Given the description of an element on the screen output the (x, y) to click on. 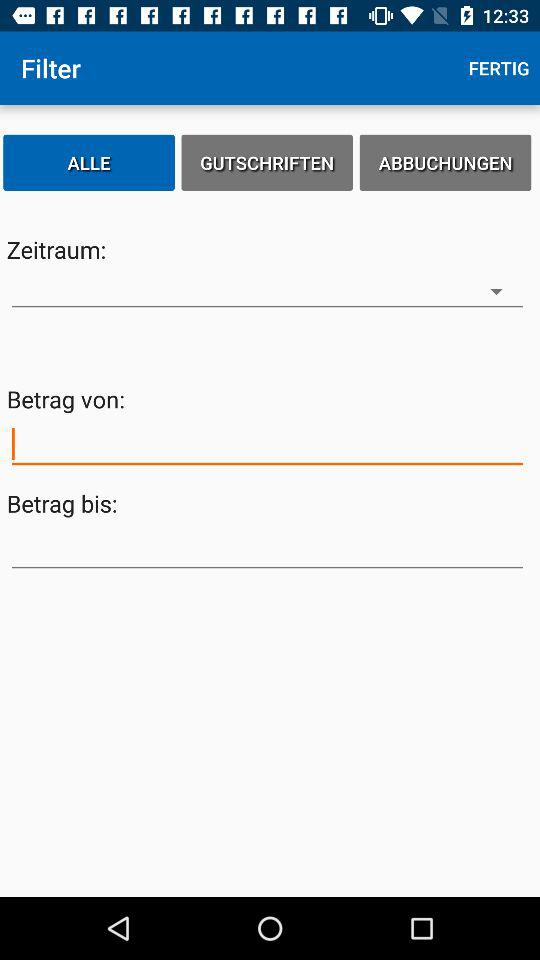
choose icon next to the abbuchungen icon (267, 162)
